Given the description of an element on the screen output the (x, y) to click on. 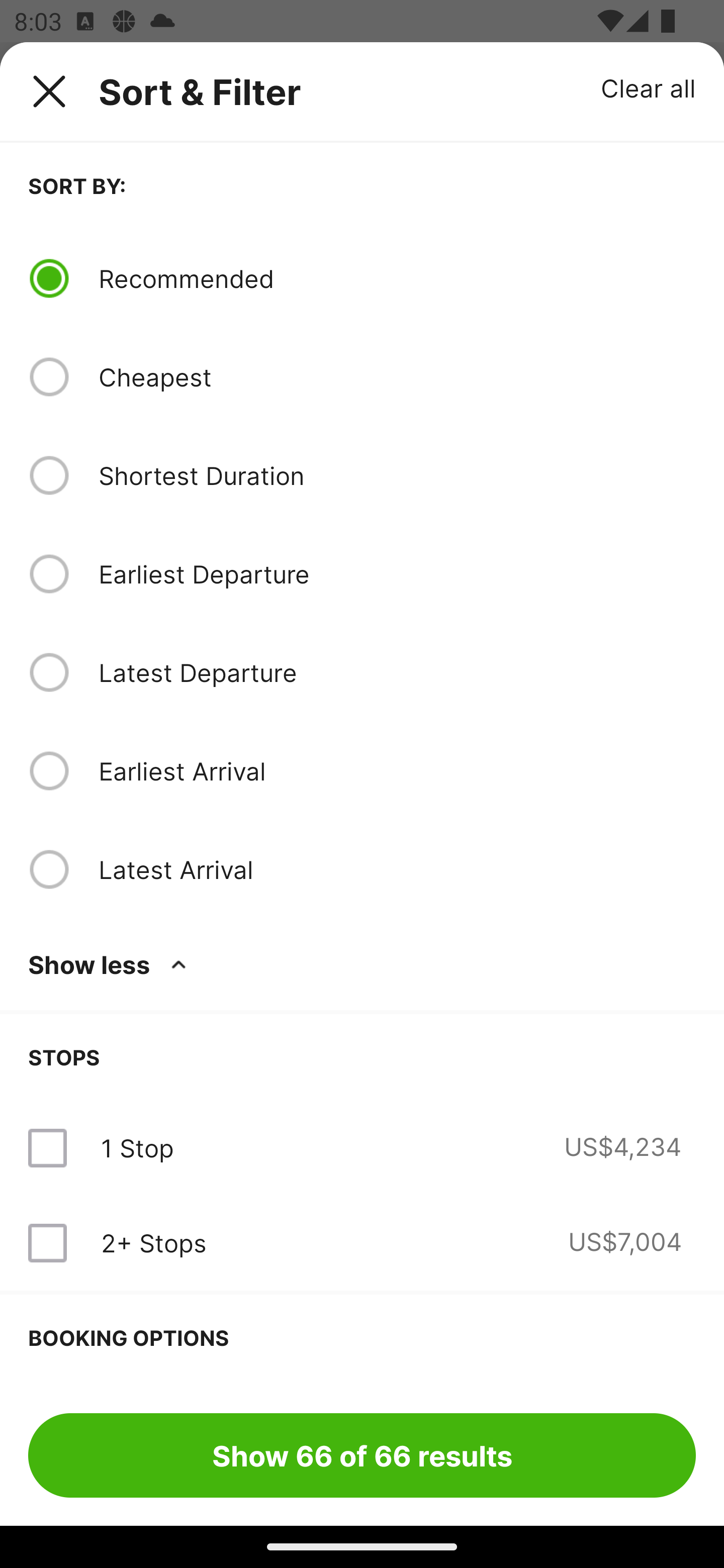
Clear all (648, 87)
Recommended  (396, 278)
Cheapest (396, 377)
Shortest Duration (396, 474)
Earliest Departure (396, 573)
Latest Departure (396, 672)
Earliest Arrival (396, 770)
Latest Arrival (396, 869)
Show less (110, 964)
1 Stop US$4,234 (362, 1147)
1 Stop (136, 1147)
2+ Stops US$7,004 (362, 1242)
2+ Stops (153, 1242)
Show 66 of 66 results (361, 1454)
